Given the description of an element on the screen output the (x, y) to click on. 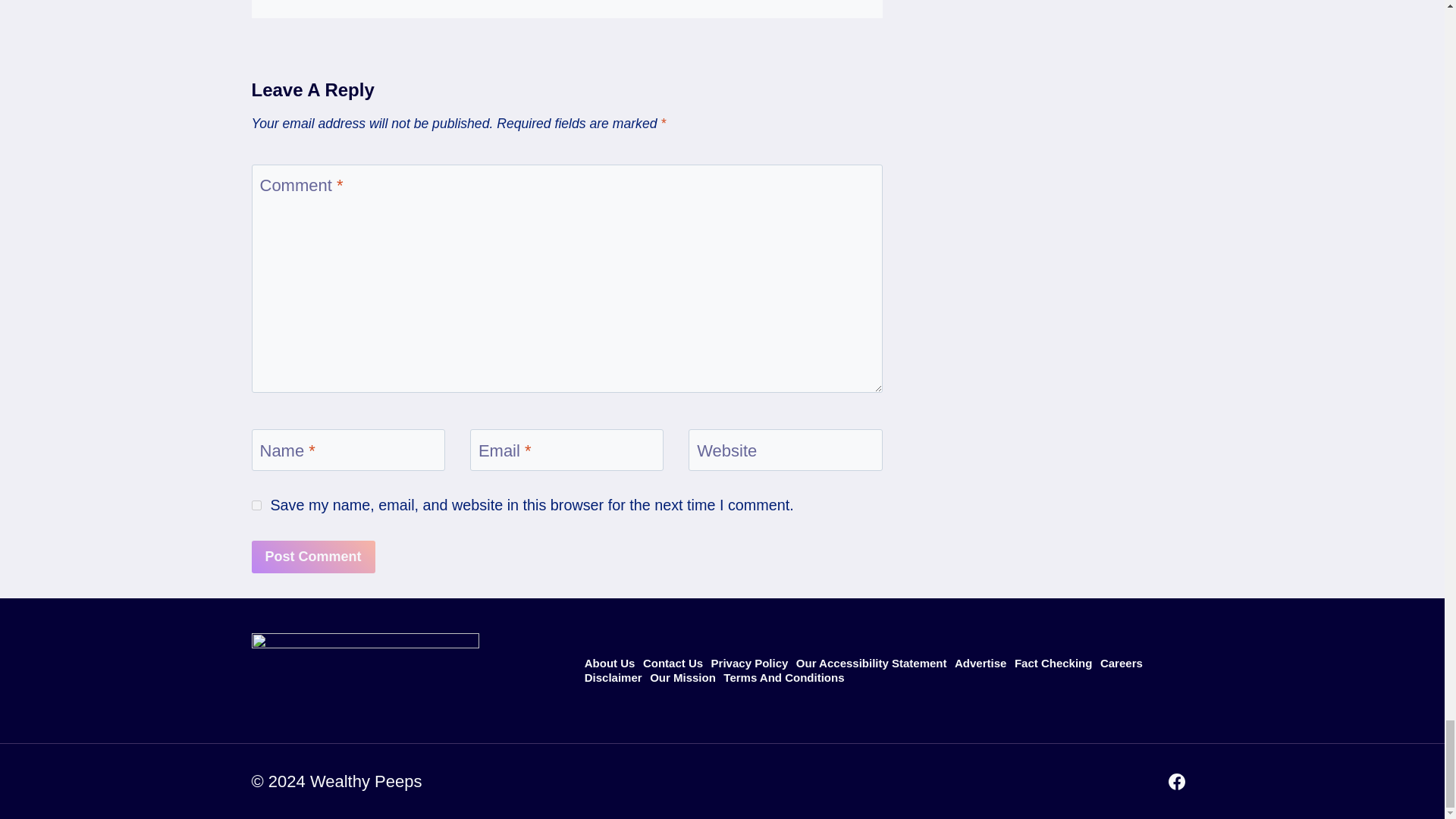
yes (256, 505)
Post Comment (313, 556)
